Given the description of an element on the screen output the (x, y) to click on. 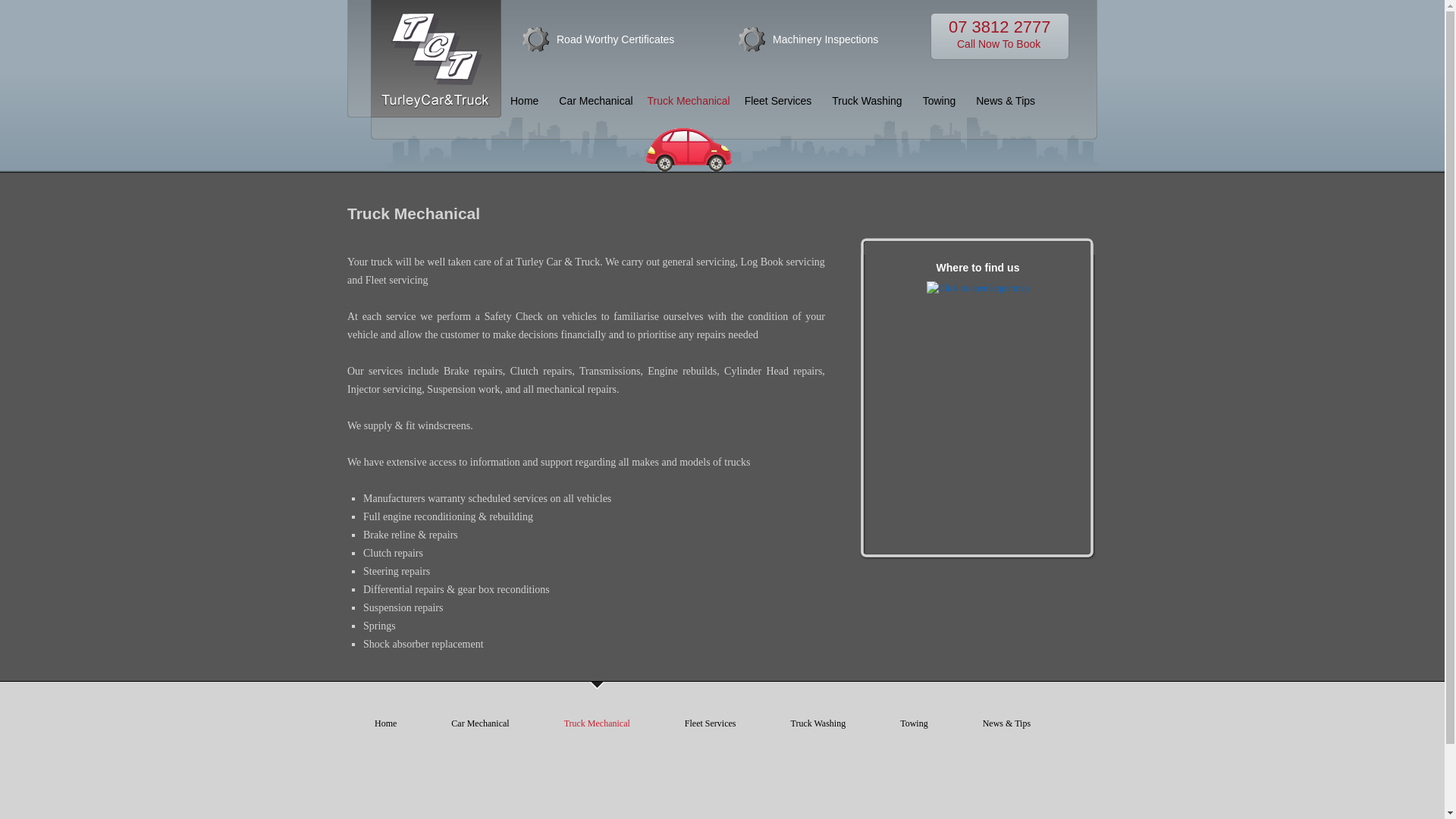
Home (385, 723)
Fleet Services (710, 723)
Truck Mechanical (689, 128)
Towing (939, 100)
Mechanical Repairs Ipswich (999, 36)
Road Worthy Certificates (595, 100)
Click to open larger map (615, 39)
Towing (977, 287)
Fleet Services      -     Member of S G Fleet and Fleetcare (914, 723)
Mechanical Repairs Ipswich (777, 100)
Towing (479, 723)
Truck Washing (939, 100)
Car Mechanical (818, 723)
Towing (595, 100)
